Given the description of an element on the screen output the (x, y) to click on. 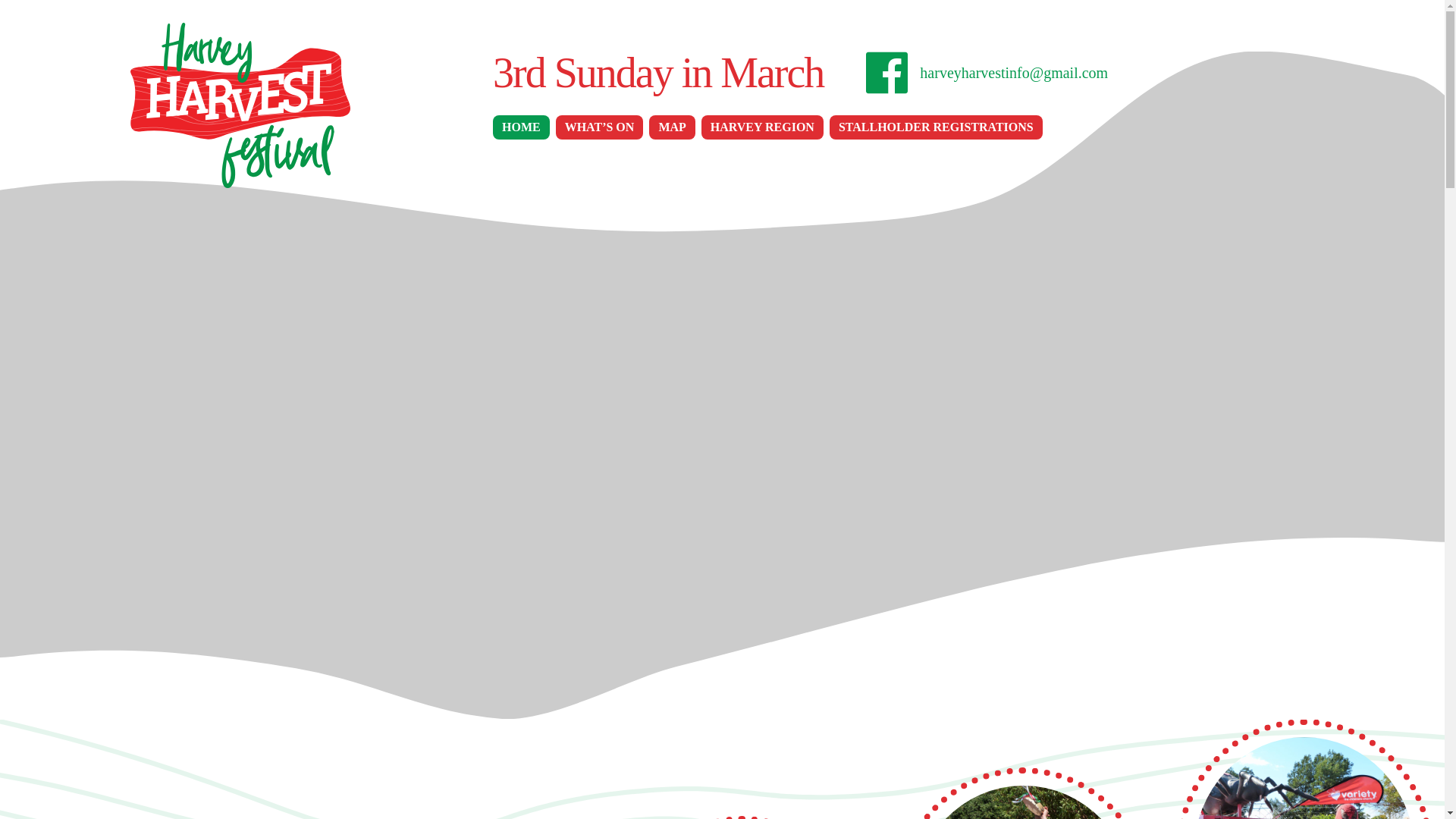
MAP Element type: text (671, 127)
STALLHOLDER REGISTRATIONS Element type: text (935, 127)
harveyharvestinfo@gmail.com Element type: text (1013, 72)
HOME Element type: text (520, 127)
HARVEY REGION Element type: text (762, 127)
